Given the description of an element on the screen output the (x, y) to click on. 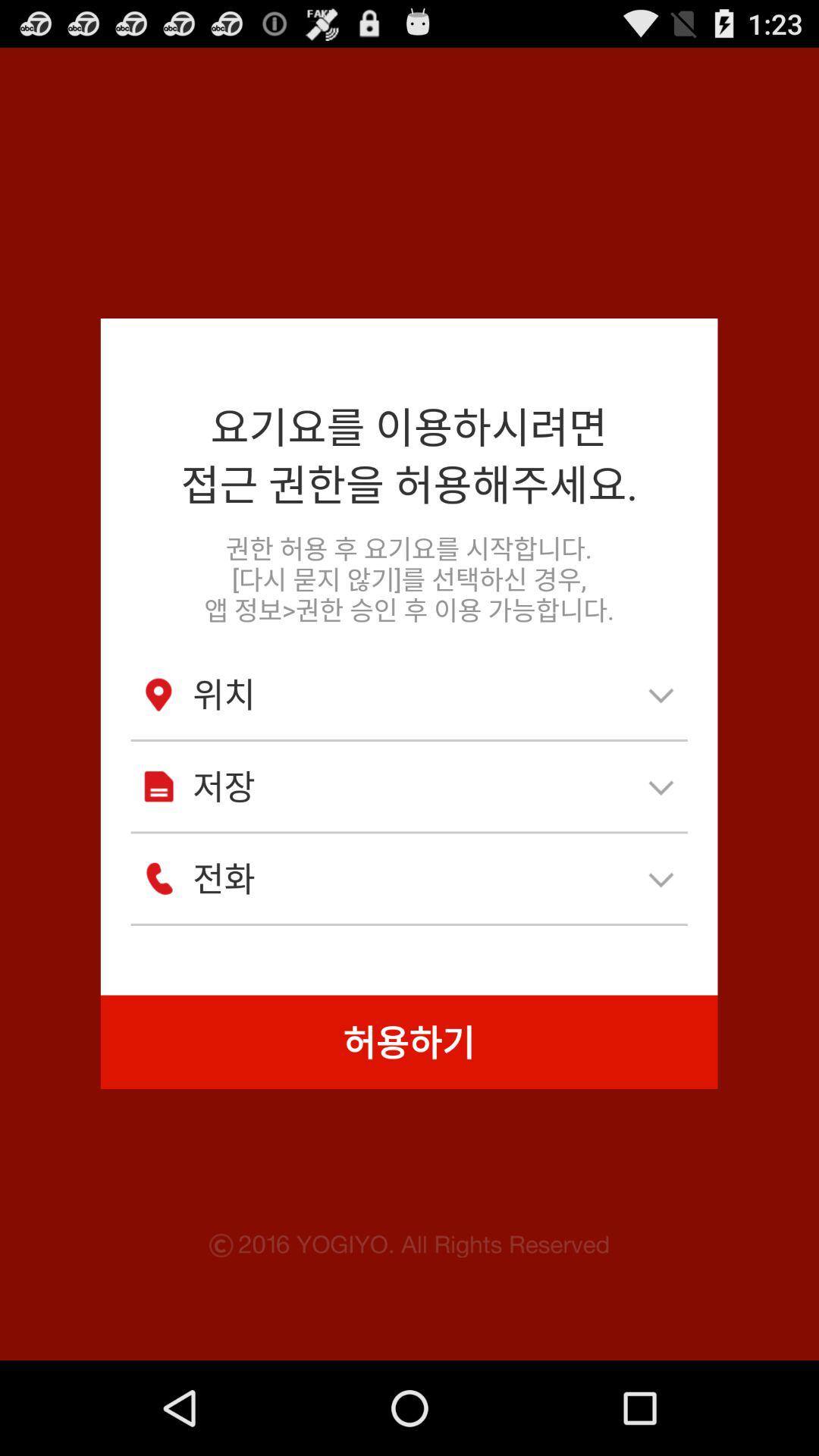
turn off the icon at the bottom (408, 1042)
